Given the description of an element on the screen output the (x, y) to click on. 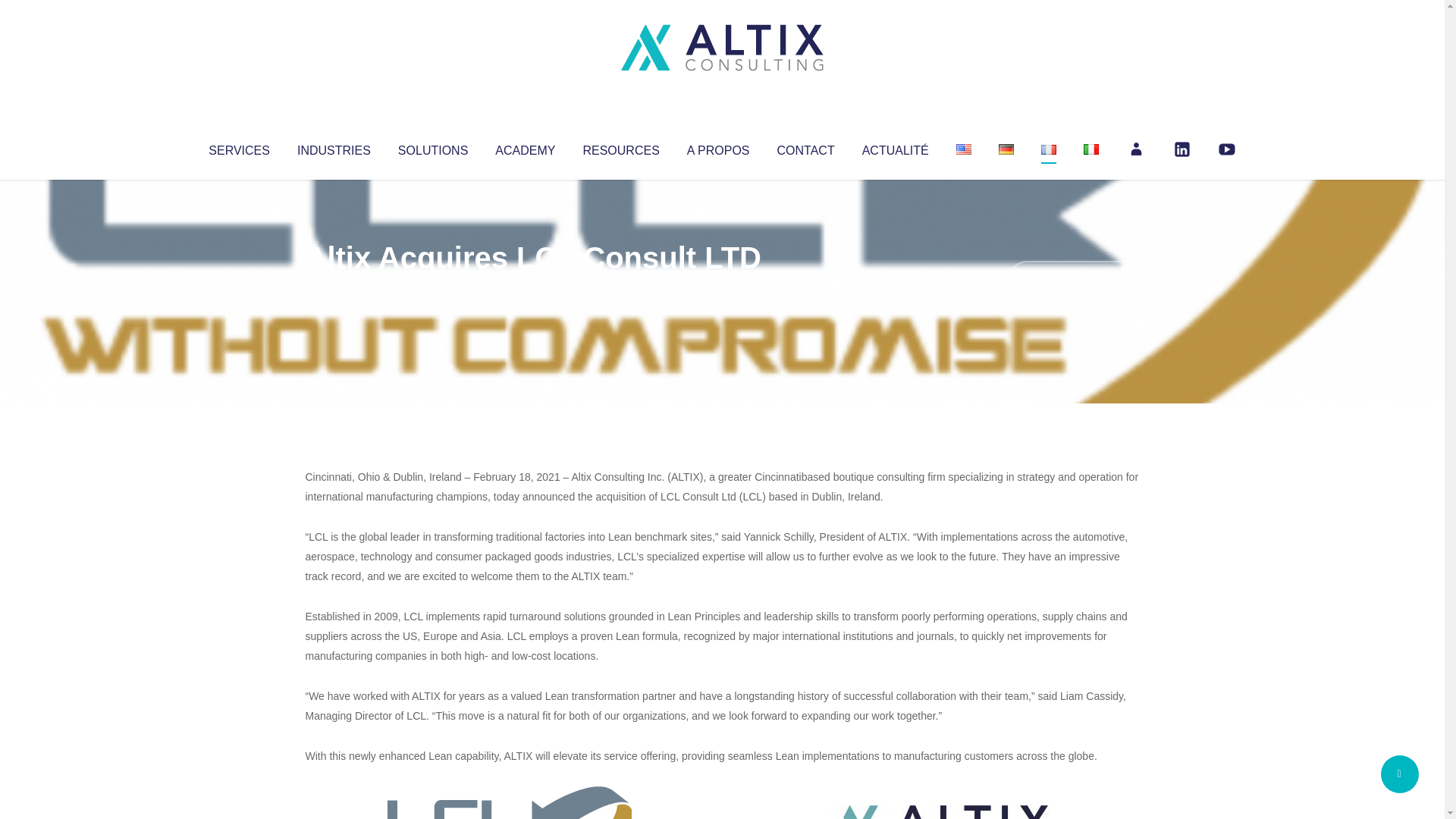
INDUSTRIES (334, 146)
A PROPOS (718, 146)
ACADEMY (524, 146)
SOLUTIONS (432, 146)
SERVICES (238, 146)
No Comments (1073, 278)
Altix (333, 287)
Uncategorized (530, 287)
RESOURCES (620, 146)
Articles par Altix (333, 287)
